Given the description of an element on the screen output the (x, y) to click on. 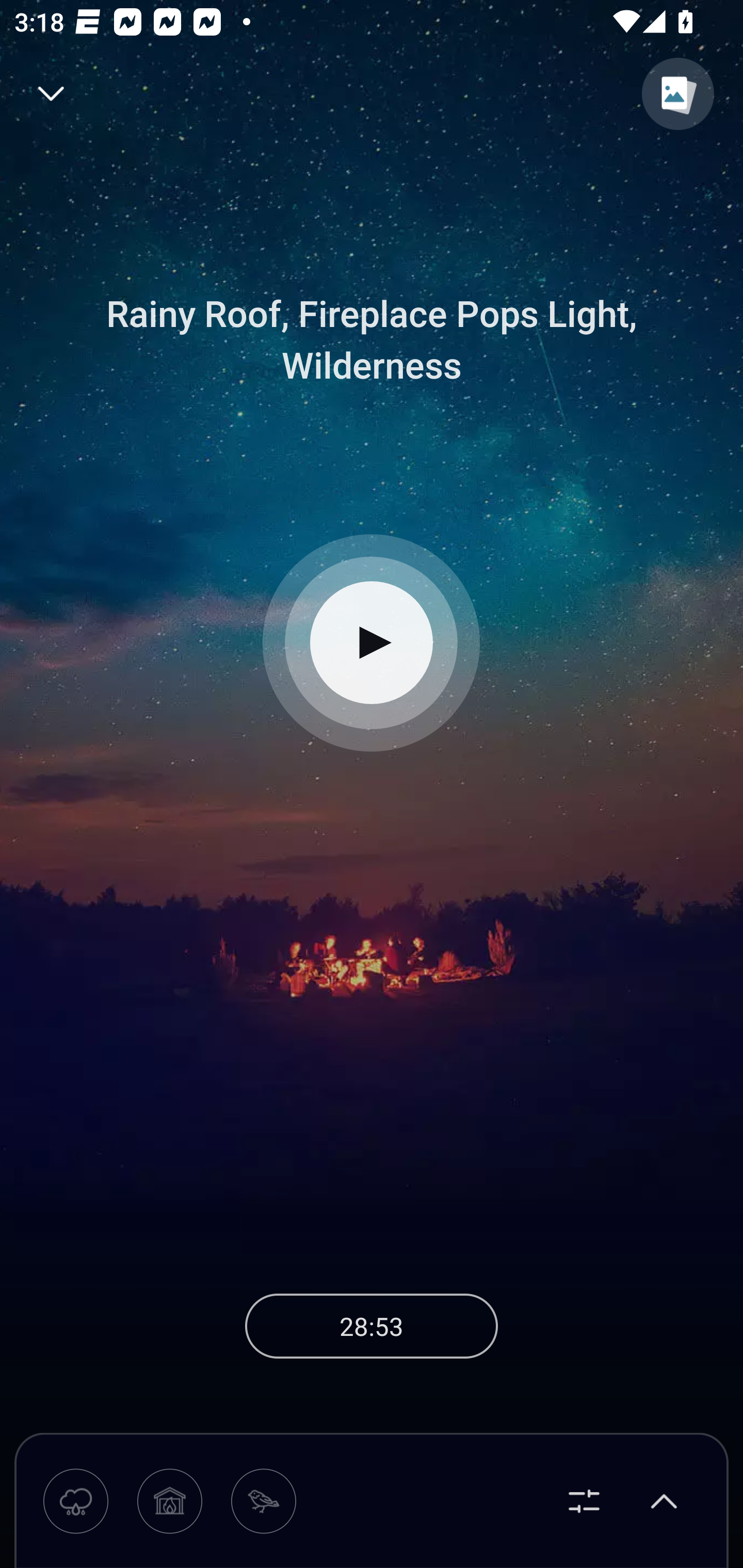
28:53 (371, 1325)
